Given the description of an element on the screen output the (x, y) to click on. 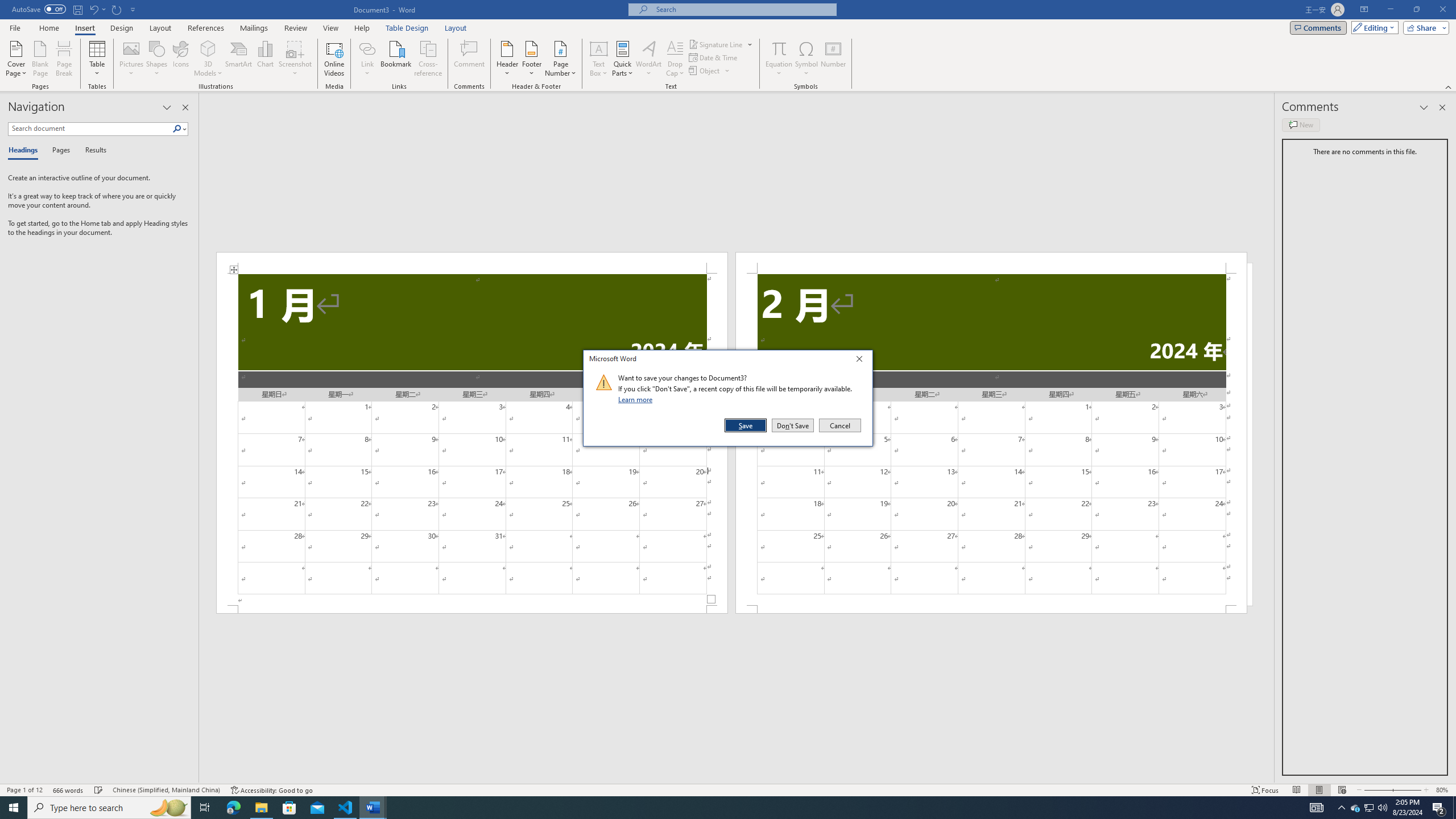
Object... (709, 69)
Signature Line (721, 44)
Language Chinese (Simplified, Mainland China) (165, 790)
Cover Page (16, 58)
3D Models (208, 58)
Page Number (560, 58)
Spelling and Grammar Check Checking (98, 790)
Icons (180, 58)
Bookmark... (1355, 807)
